Given the description of an element on the screen output the (x, y) to click on. 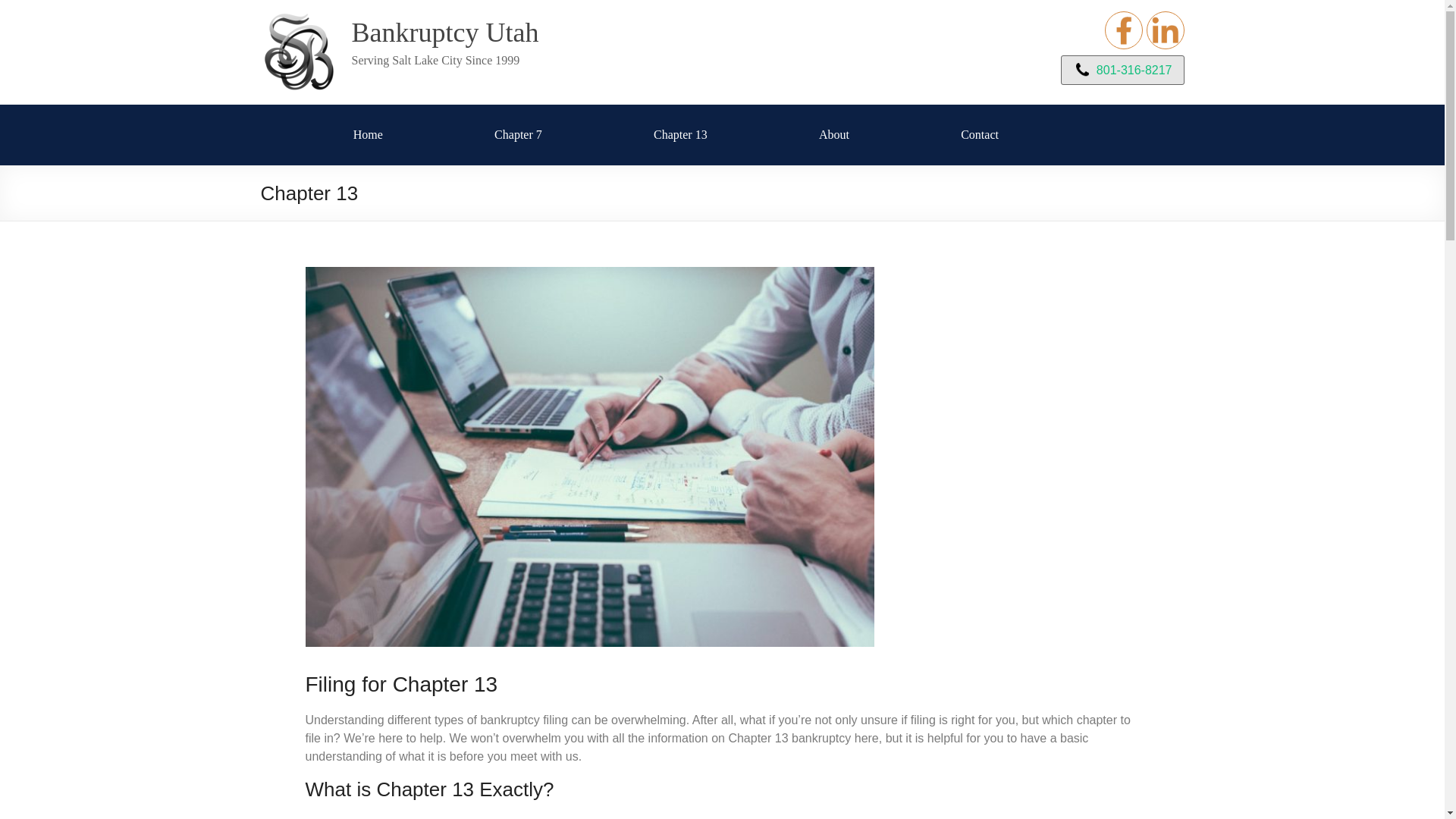
Chapter 13 (680, 134)
About (833, 134)
Bankruptcy Utah (445, 32)
801-316-8217 (1123, 70)
Contact (979, 134)
Bankruptcy Utah (445, 32)
Home (367, 134)
Chapter 7 (518, 134)
